Given the description of an element on the screen output the (x, y) to click on. 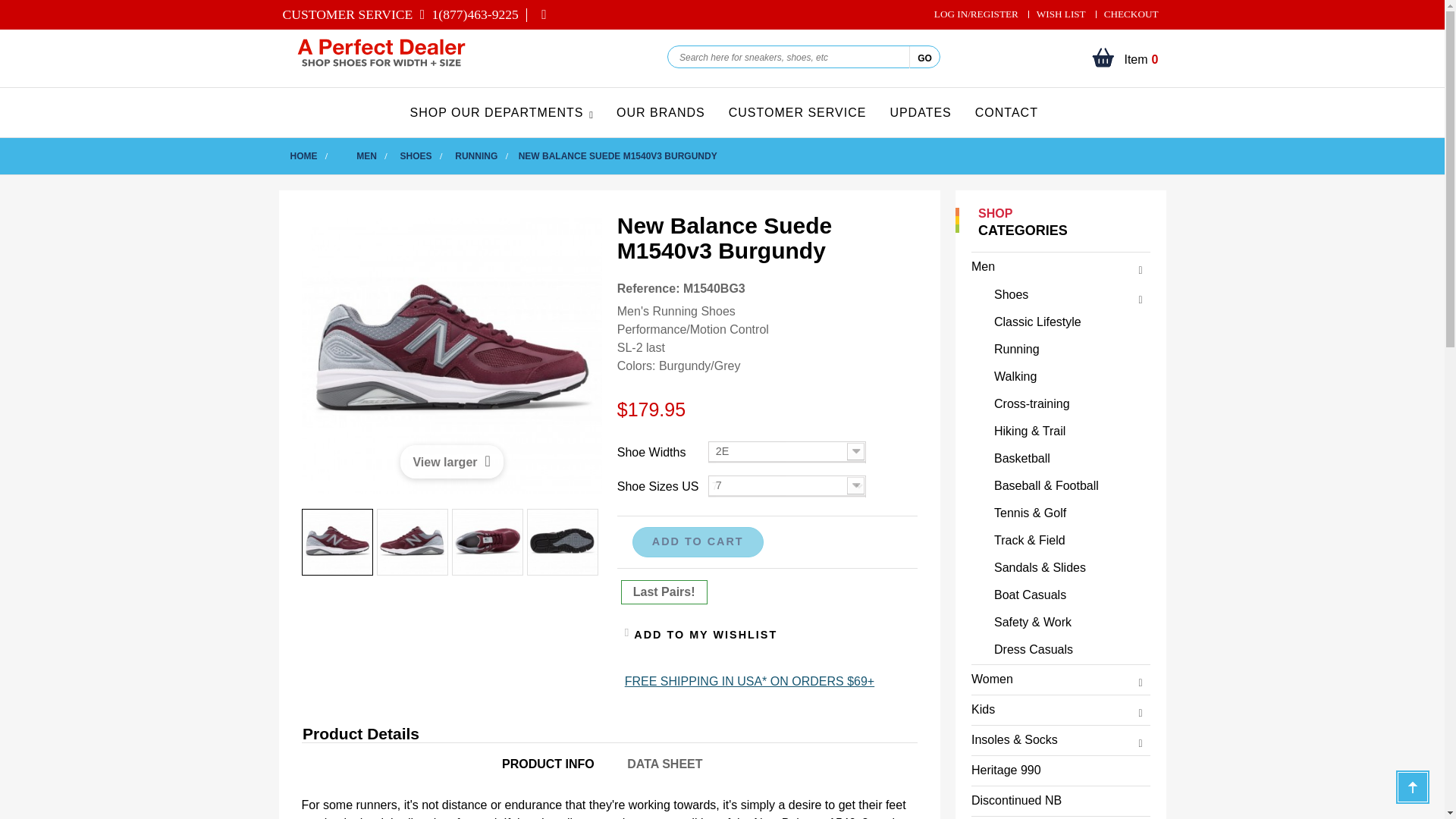
Checkout (1141, 56)
Click to Call Toll Free (1130, 13)
Go to Customer Service (467, 14)
WISH LIST (347, 14)
CHECKOUT (1061, 13)
CUSTOMER SERVICE (1130, 13)
View shopping cart (347, 14)
GO (1141, 56)
My wishlists (923, 56)
